Given the description of an element on the screen output the (x, y) to click on. 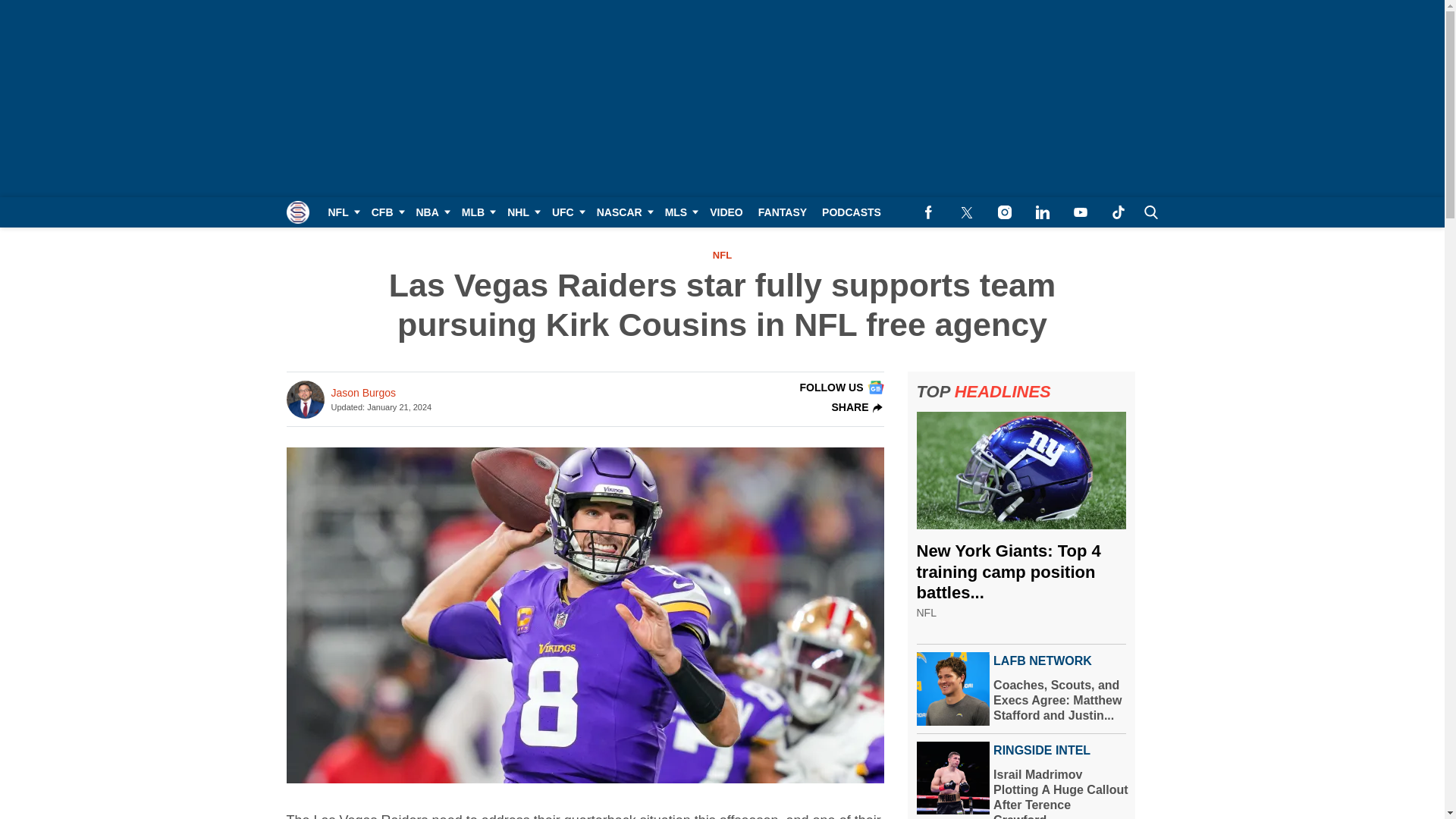
Subscribe to our TikTok channel (1118, 212)
Follow us on Instagram (1004, 212)
MLB (476, 212)
Posts by Jason Burgos (363, 392)
Follow us on Twitter (966, 212)
UFC (566, 212)
Subscribe to our YouTube channel (1080, 212)
NFL (341, 212)
NBA (429, 212)
Connect with us on LinkedIn (1042, 212)
NHL (521, 212)
Follow us on Facebook (928, 212)
CFB (386, 212)
